Given the description of an element on the screen output the (x, y) to click on. 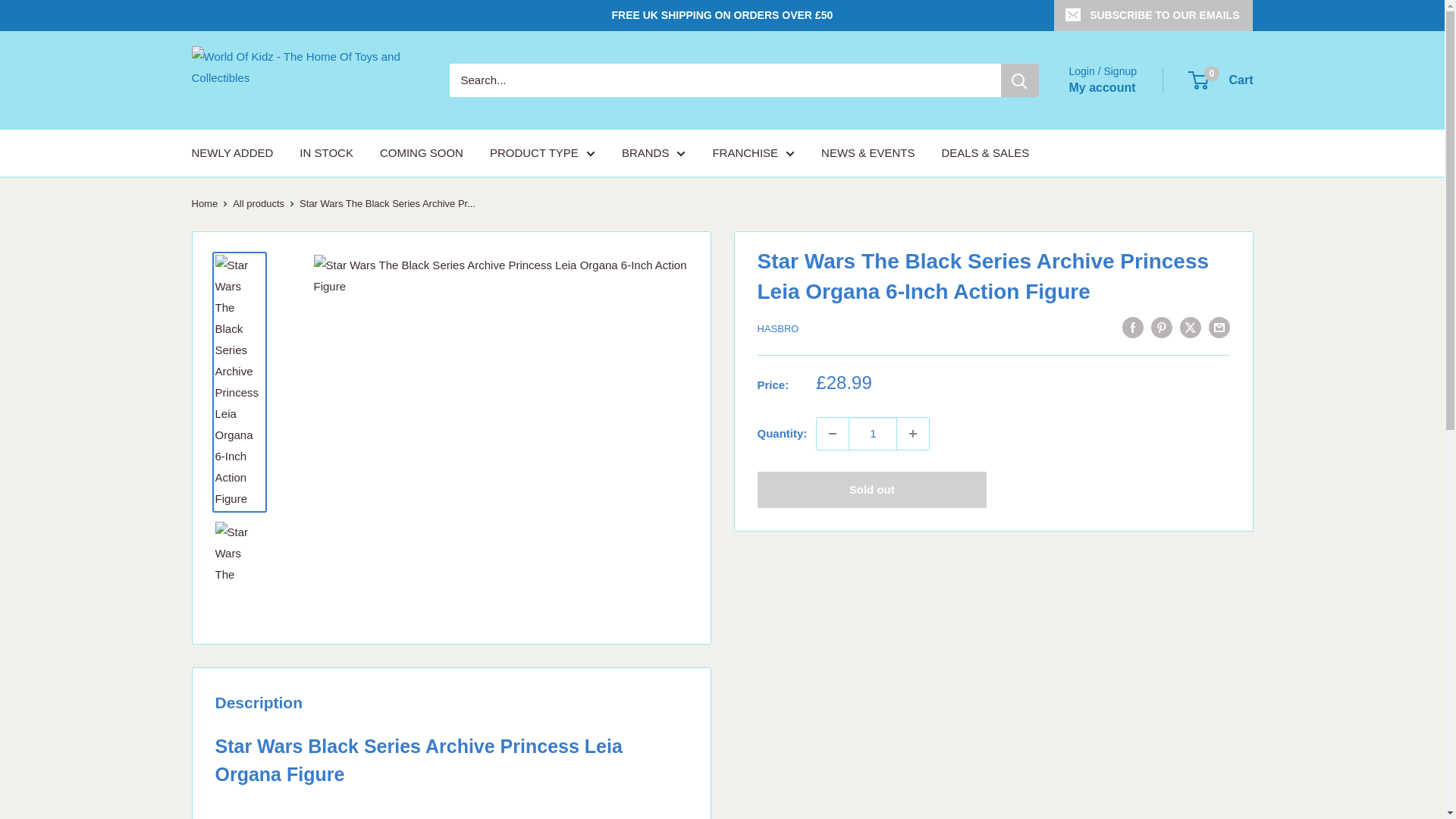
SUBSCRIBE TO OUR EMAILS (1153, 15)
Increase quantity by 1 (912, 433)
1 (872, 433)
Decrease quantity by 1 (832, 433)
